Given the description of an element on the screen output the (x, y) to click on. 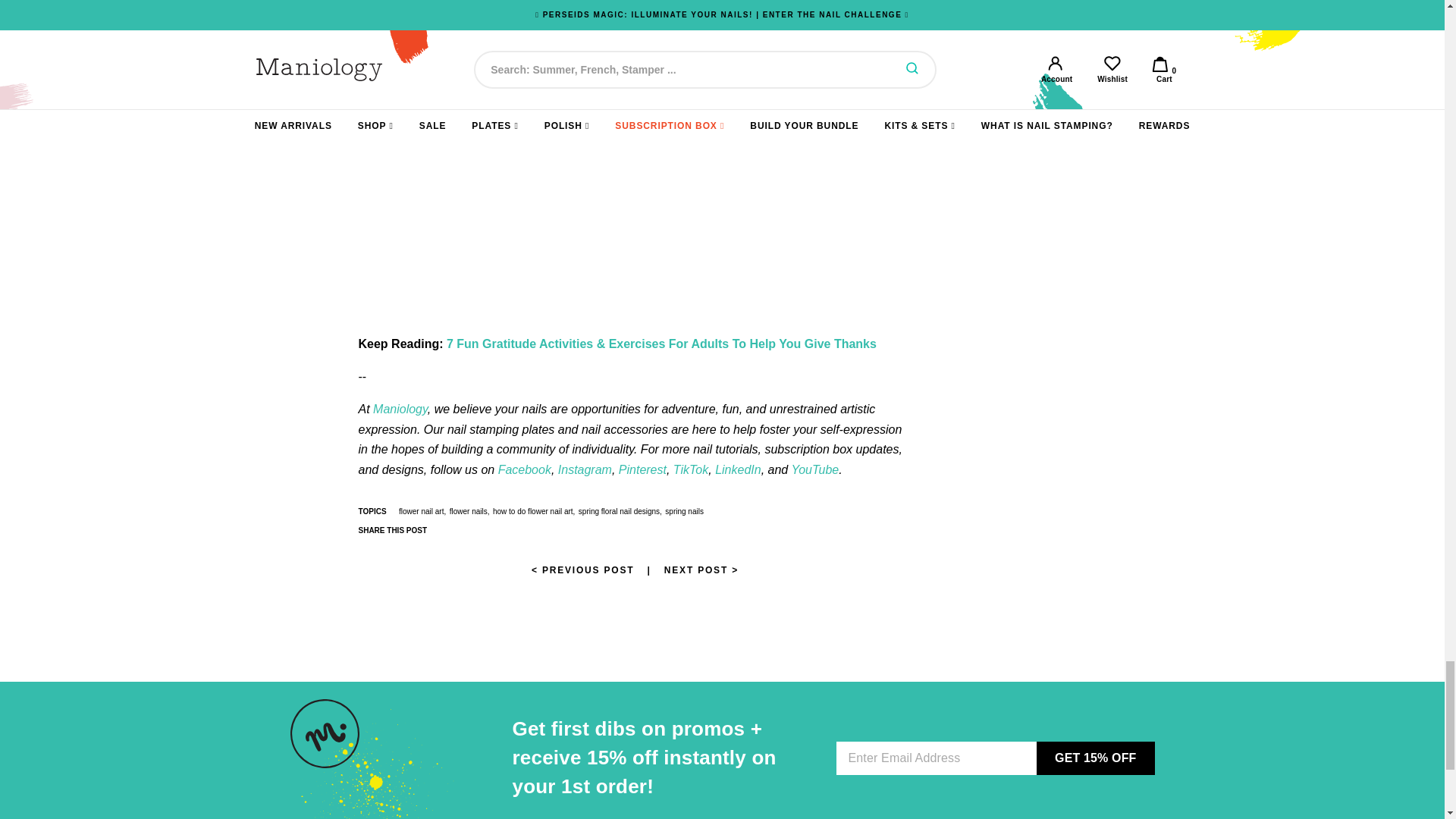
YouTube video player (570, 196)
